Given the description of an element on the screen output the (x, y) to click on. 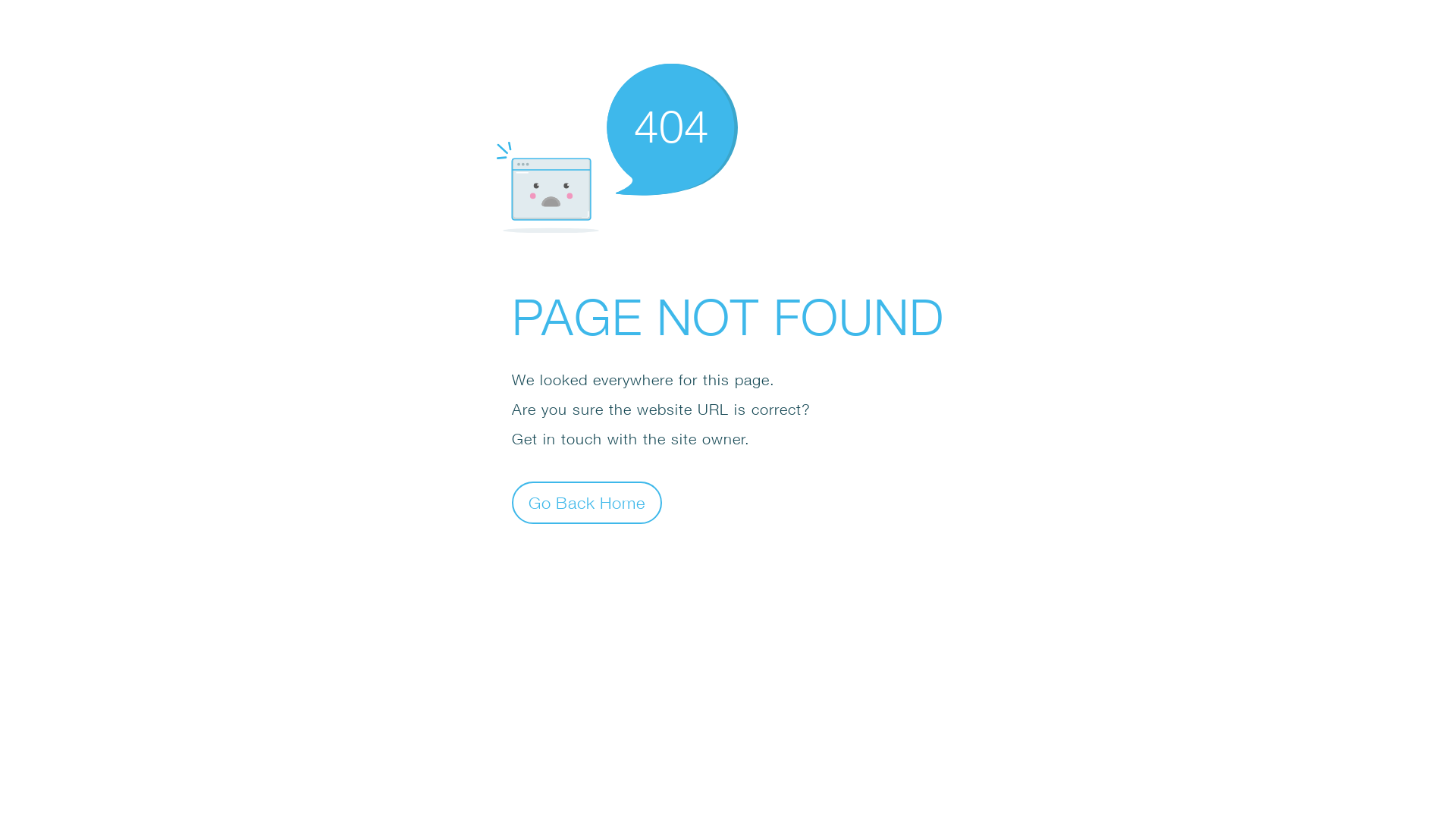
Go Back Home Element type: text (586, 502)
